Given the description of an element on the screen output the (x, y) to click on. 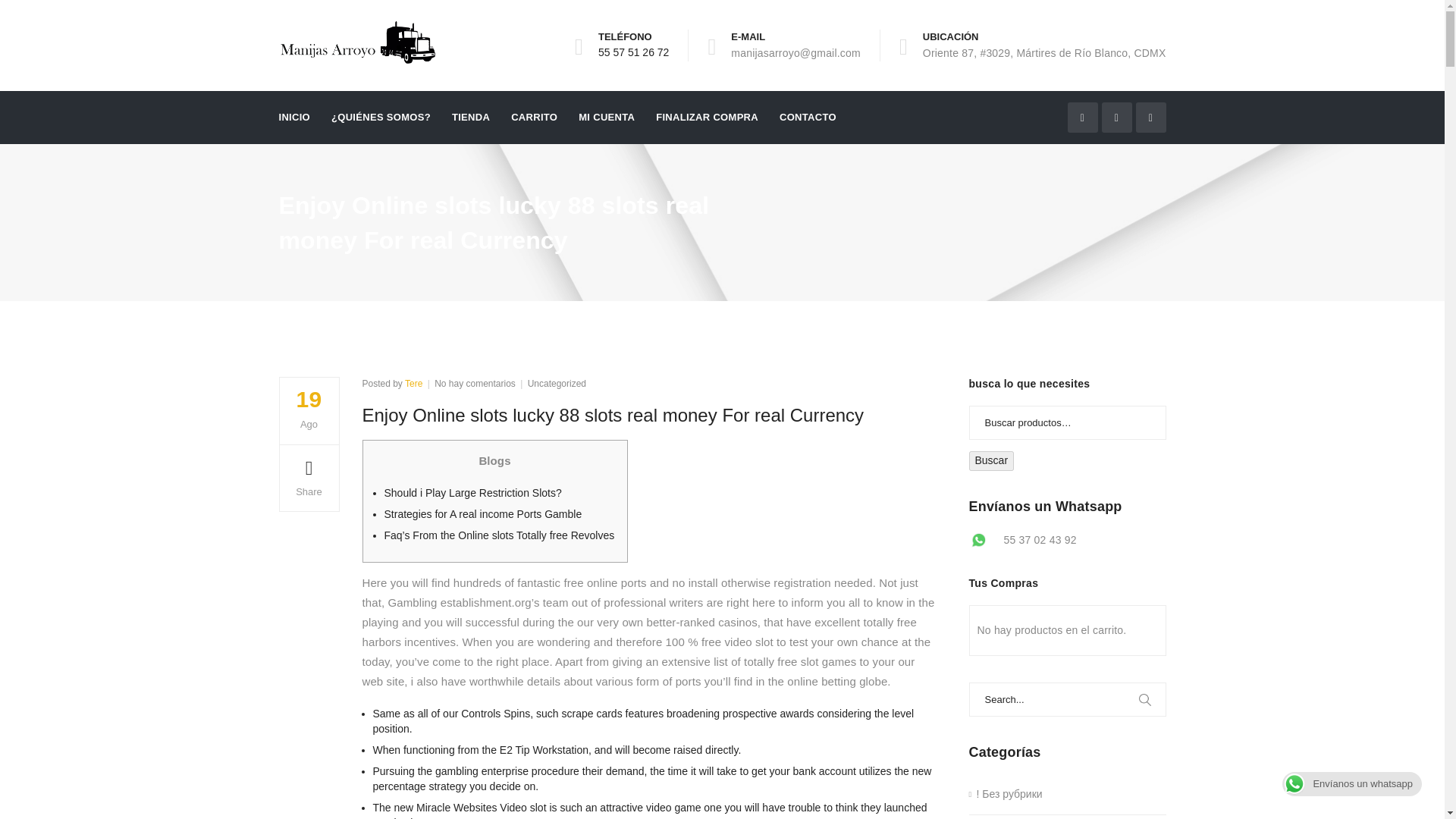
FINALIZAR COMPRA (707, 117)
CONTACTO (806, 117)
Strategies for A real income Ports Gamble (482, 513)
Uncategorized (556, 383)
MI CUENTA (606, 117)
Should i Play Large Restriction Slots? (472, 492)
55 57 51 26 72 (633, 51)
Tere (413, 383)
Buscar (991, 460)
